Given the description of an element on the screen output the (x, y) to click on. 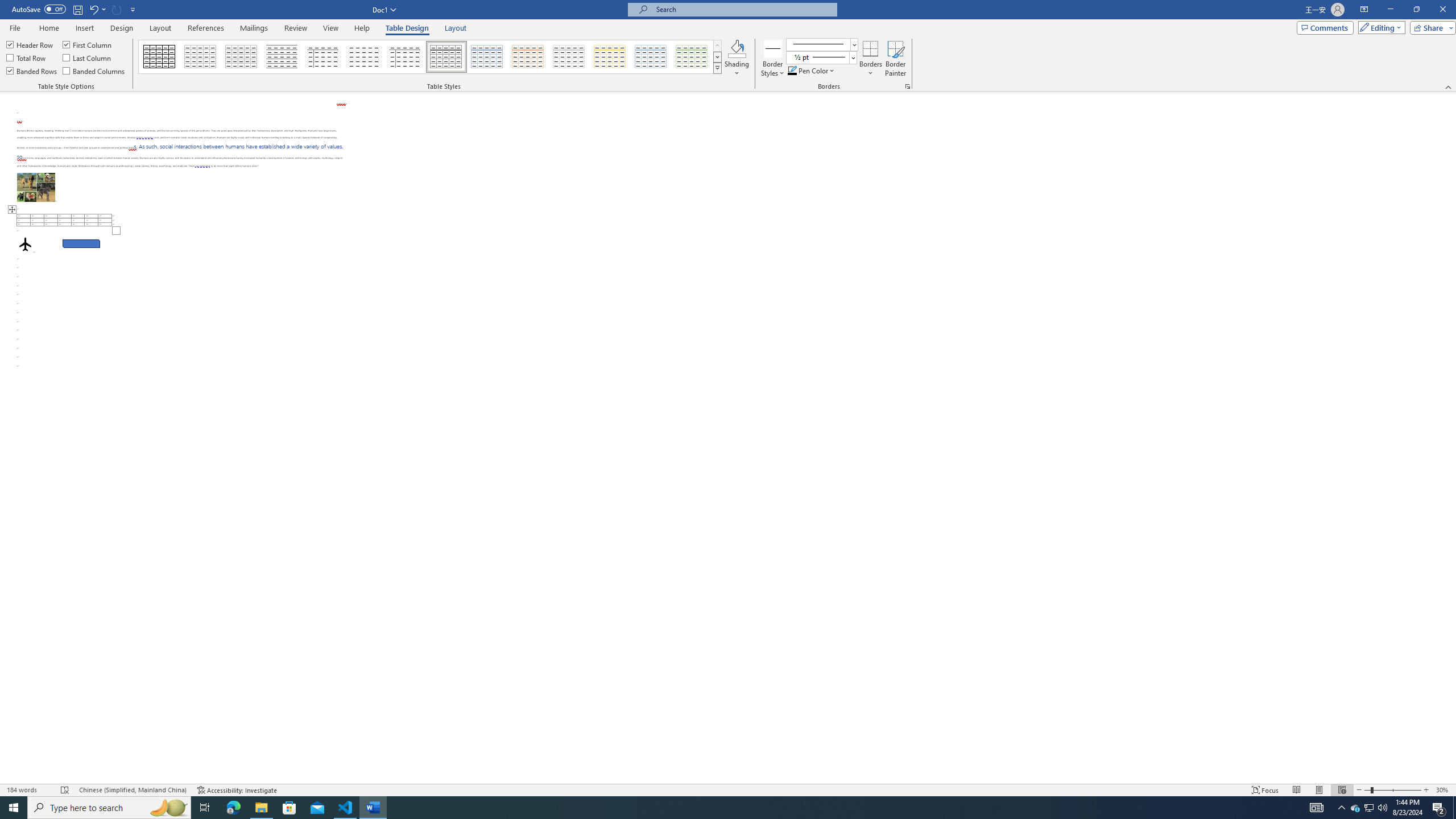
Pen Color (811, 69)
Grid Table 1 Light - Accent 3 (568, 56)
View (330, 28)
Table Grid (159, 56)
Table Styles (717, 67)
Plain Table 2 (282, 56)
Banded Columns (94, 69)
Plain Table 5 (405, 56)
Language Chinese (Simplified, Mainland China) (132, 790)
Header Row (30, 44)
Pen Color RGB(0, 0, 0) (791, 69)
Borders (870, 58)
More Options (870, 68)
Insert (83, 28)
